Given the description of an element on the screen output the (x, y) to click on. 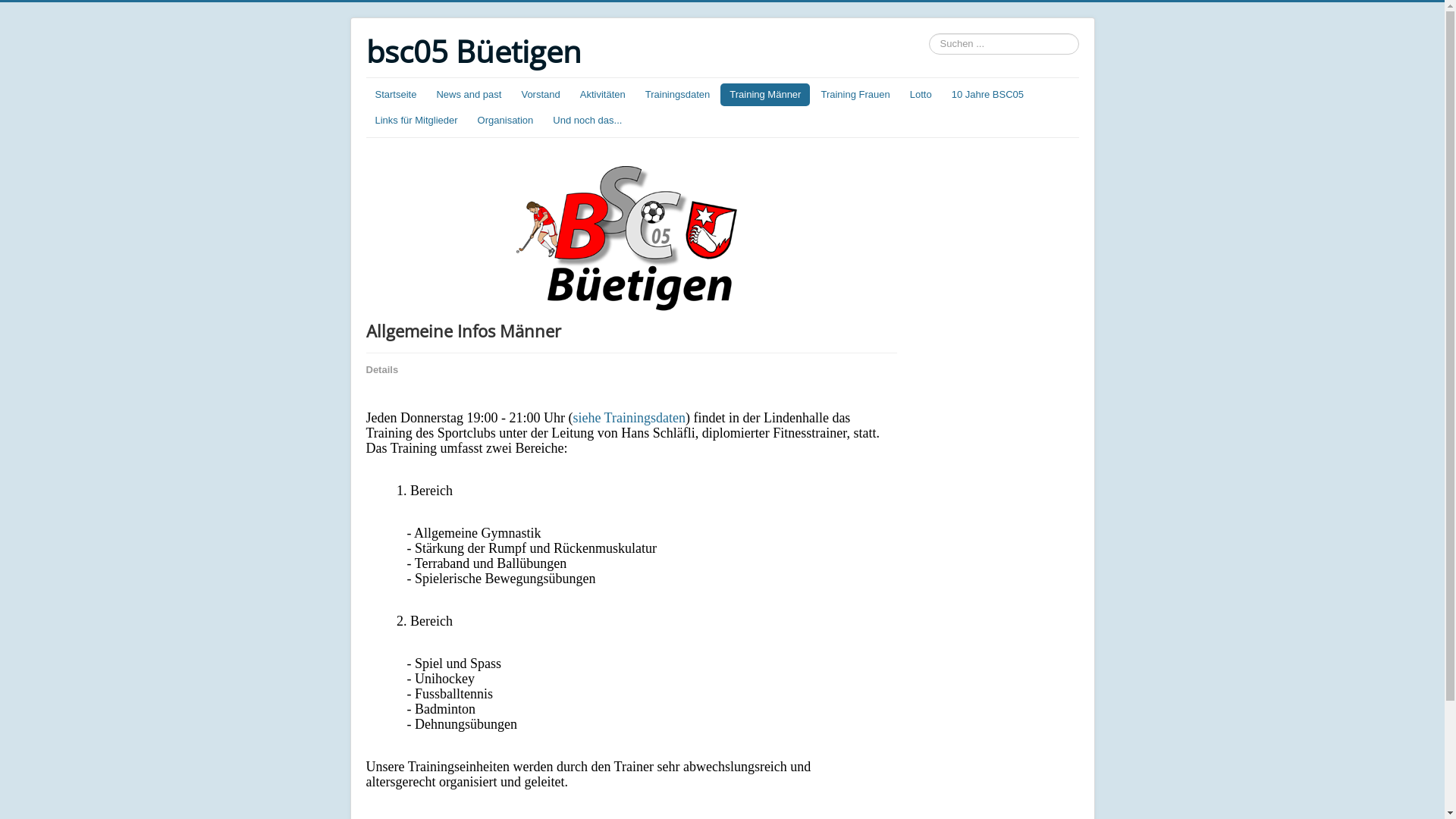
Vorstand Element type: text (539, 94)
Und noch das... Element type: text (586, 120)
Training Frauen Element type: text (854, 94)
News and past Element type: text (468, 94)
Trainingsdaten Element type: text (677, 94)
Startseite Element type: text (395, 94)
10 Jahre BSC05 Element type: text (987, 94)
Lotto Element type: text (920, 94)
siehe Trainingsdaten Element type: text (628, 417)
Organisation Element type: text (505, 120)
